Given the description of an element on the screen output the (x, y) to click on. 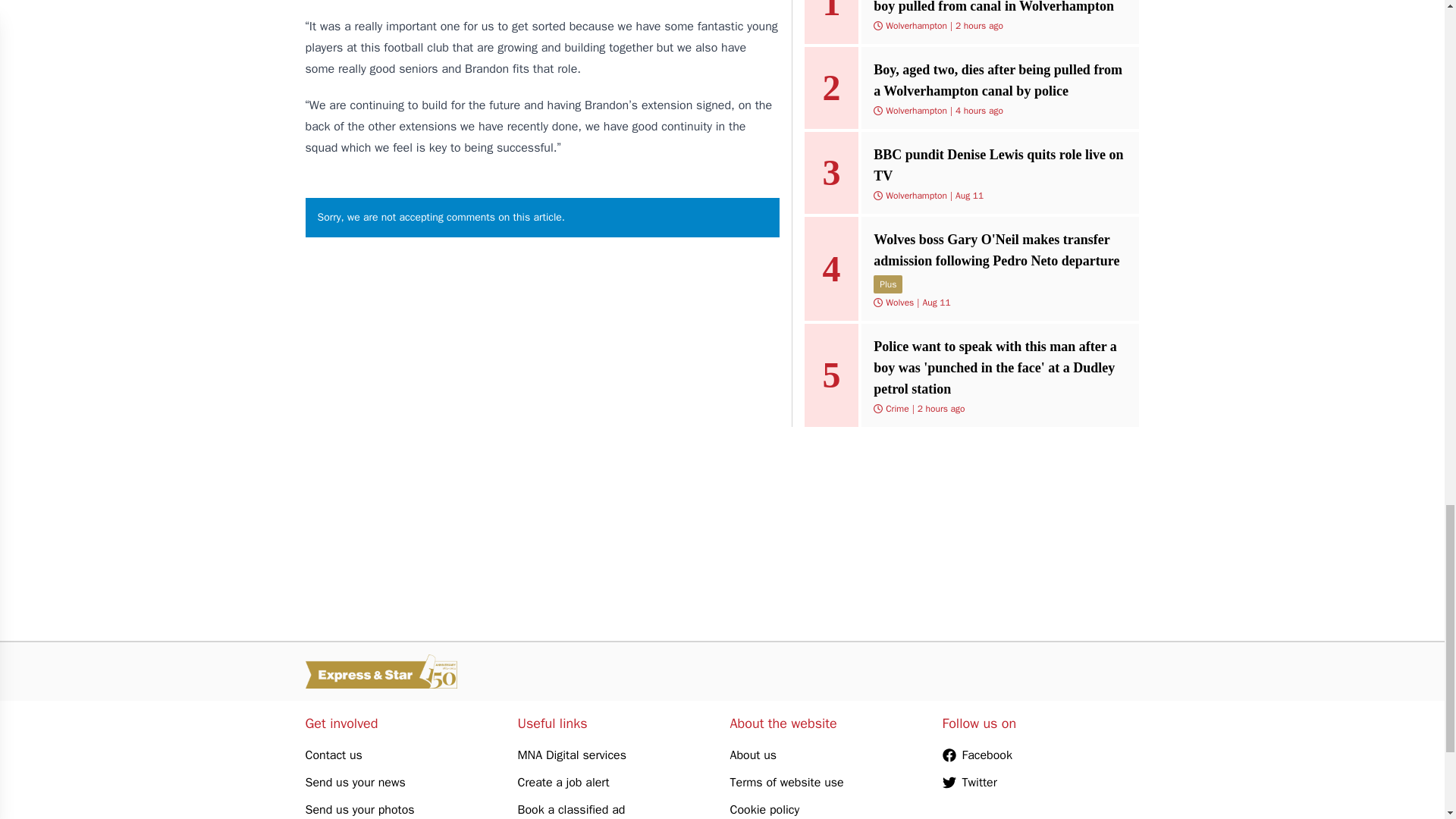
Wolves (899, 302)
Wolverhampton (916, 195)
Wolverhampton (916, 110)
Crime (896, 408)
Wolverhampton (916, 25)
